Given the description of an element on the screen output the (x, y) to click on. 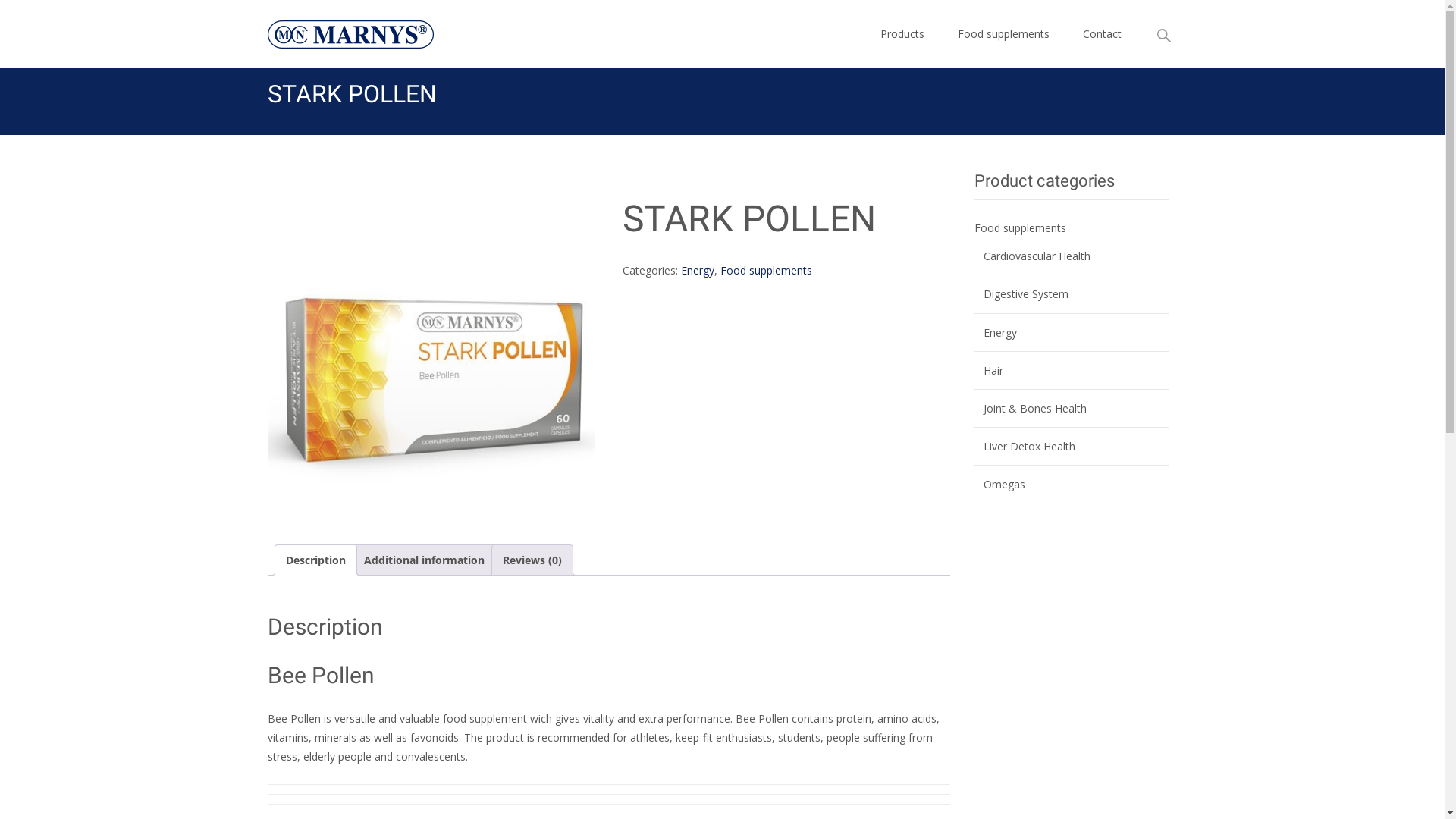
Omegas Element type: text (1003, 483)
Description Element type: text (315, 559)
Contact Element type: text (1101, 34)
Hair Element type: text (992, 370)
Reviews (0) Element type: text (531, 559)
Food supplements Element type: text (1019, 227)
Digestive System Element type: text (1024, 293)
Food supplements Element type: text (766, 270)
Search for: Element type: hover (1163, 35)
Food supplements Element type: text (1002, 34)
Cardiovascular Health Element type: text (1035, 255)
Search Element type: text (18, 15)
Liver Detox Health Element type: text (1028, 446)
Additional information Element type: text (424, 559)
mn308-polenmar-60-cap-marnys-bangladesh Element type: hover (430, 359)
Marnys Bangladesh Element type: hover (337, 30)
Energy Element type: text (697, 270)
Energy Element type: text (999, 332)
Joint & Bones Health Element type: text (1033, 408)
Products Element type: text (901, 34)
